Given the description of an element on the screen output the (x, y) to click on. 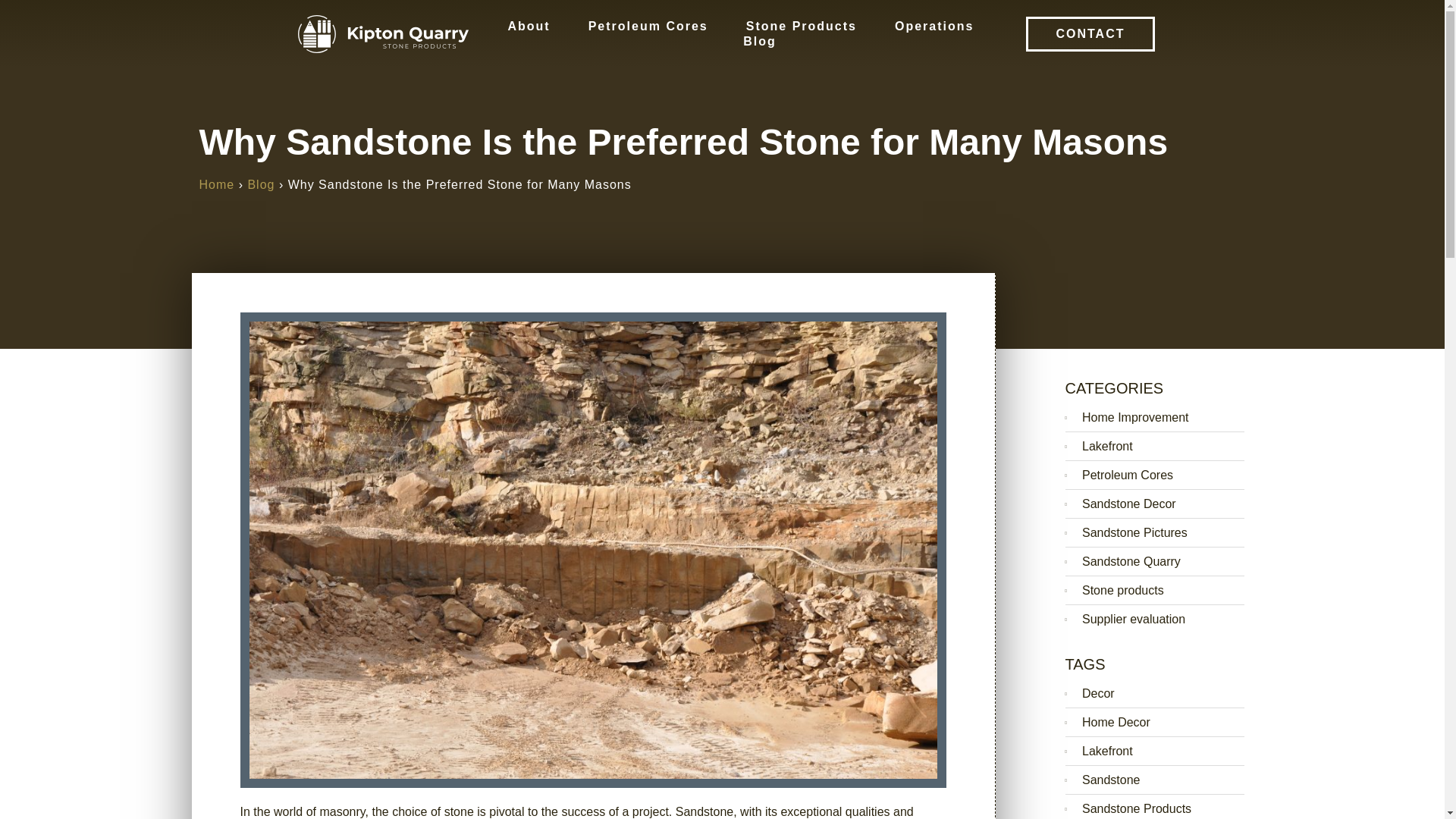
About (528, 26)
Petroleum Cores (647, 26)
Blog (759, 41)
Stone Products (801, 26)
Operations (934, 26)
